Given the description of an element on the screen output the (x, y) to click on. 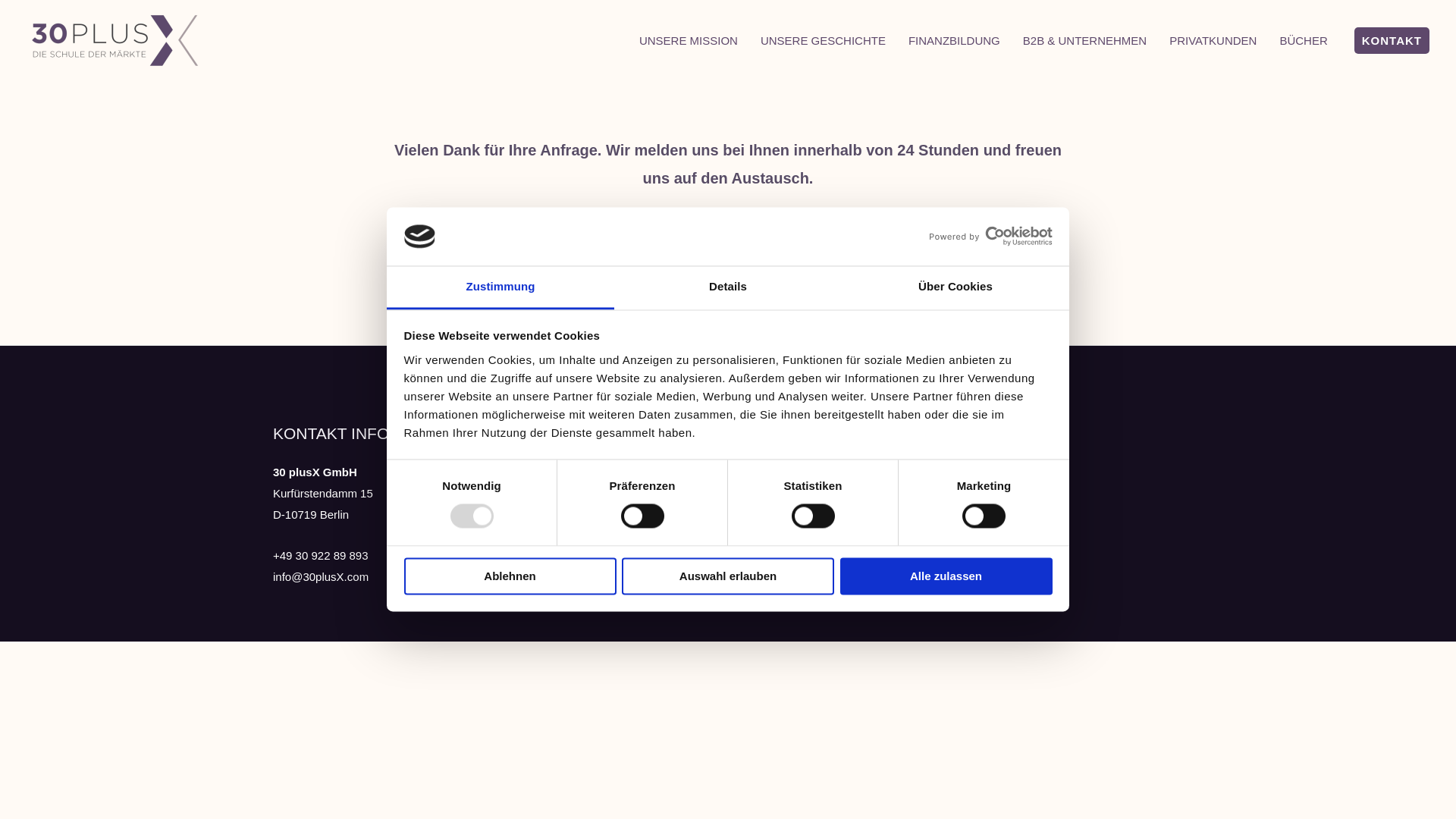
Instagram Element type: text (614, 492)
Auswahl erlauben Element type: text (727, 575)
UNSERE GESCHICHTE Element type: text (823, 40)
UNSERE MISSION Element type: text (688, 40)
Facebook Element type: text (614, 514)
Alle zulassen Element type: text (946, 575)
KONTAKT Element type: text (1391, 40)
Details Element type: text (727, 287)
PRIVATKUNDEN Element type: text (1212, 40)
Youtube Element type: text (609, 534)
Widerrufsbelehrung Element type: text (954, 492)
AGB Element type: text (916, 534)
Impressum Element type: text (932, 471)
LinkedIn Element type: text (610, 471)
B2B & UNTERNEHMEN Element type: text (1084, 40)
Ablehnen Element type: text (509, 575)
Zustimmung Element type: text (500, 287)
FINANZBILDUNG Element type: text (954, 40)
